Given the description of an element on the screen output the (x, y) to click on. 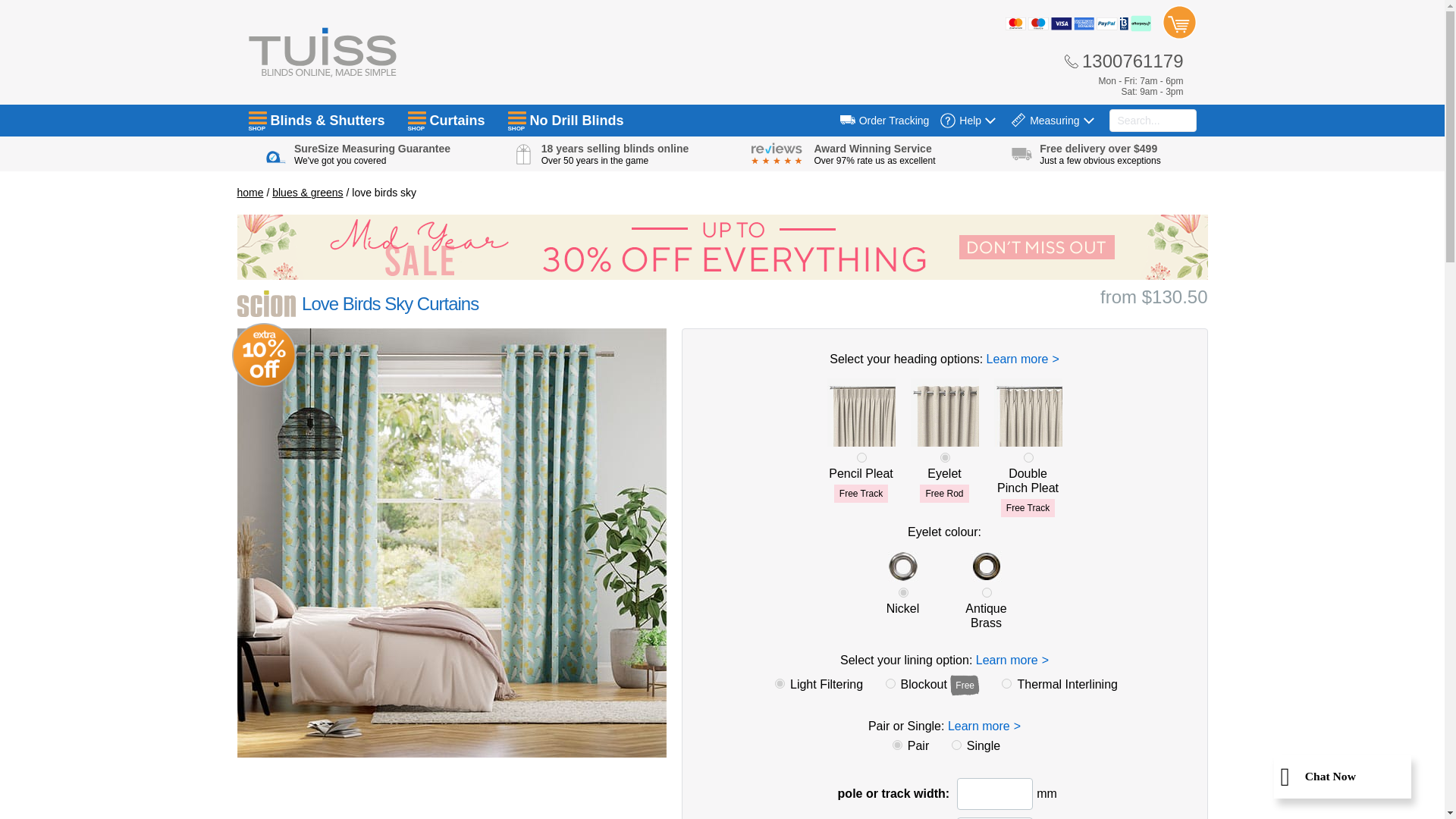
39259 (861, 457)
95 (890, 683)
burger icon (257, 117)
94 (779, 683)
253 (1006, 683)
89 (986, 592)
white down arrow icon (990, 120)
white down arrow icon (1088, 120)
310 (956, 745)
88 (903, 592)
309 (897, 745)
39260 (945, 457)
burger icon (516, 117)
1300761179 (1123, 61)
39261 (1028, 457)
